Given the description of an element on the screen output the (x, y) to click on. 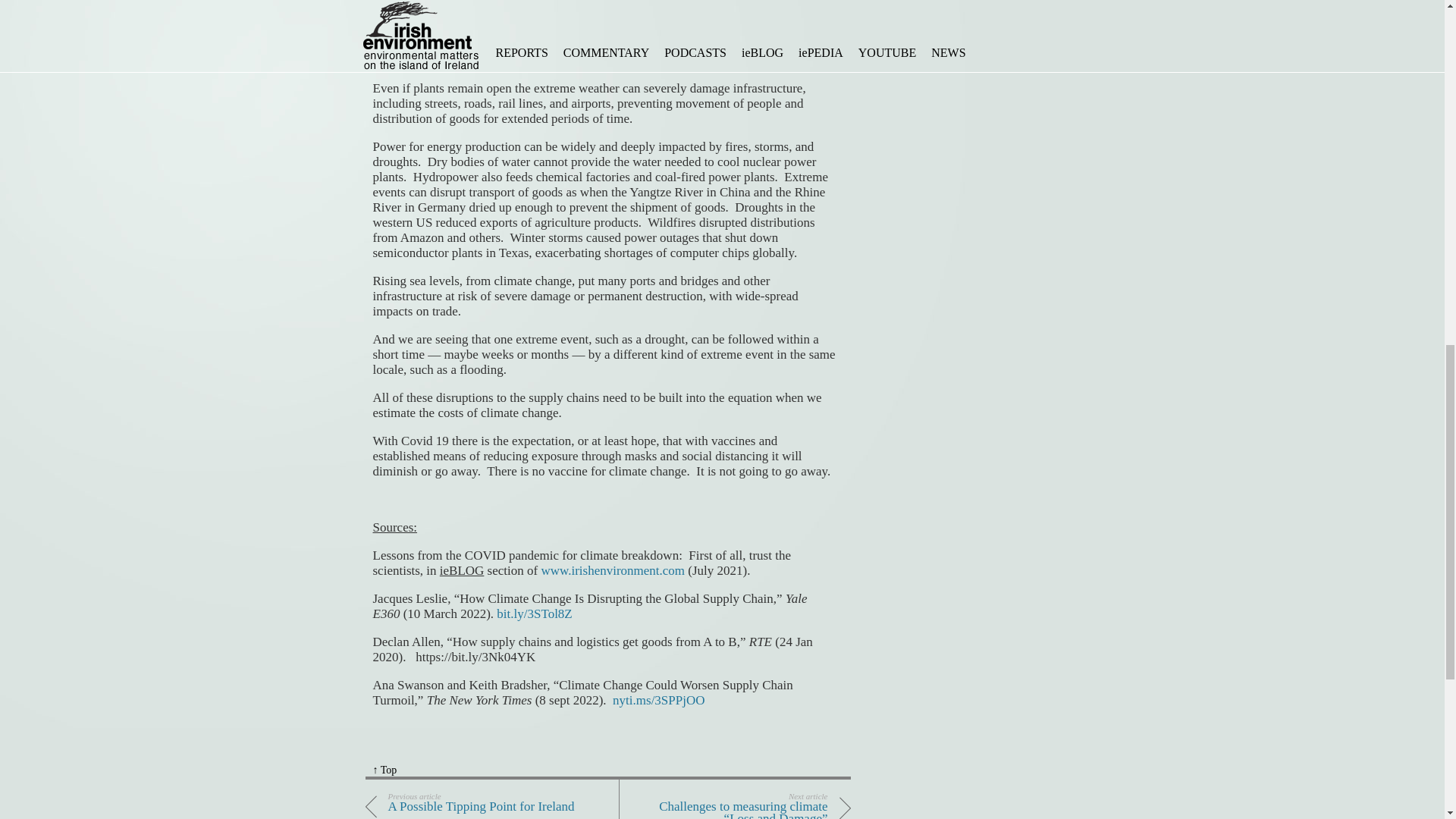
Back to Top (384, 769)
www.irishenvironment.com (471, 805)
